Given the description of an element on the screen output the (x, y) to click on. 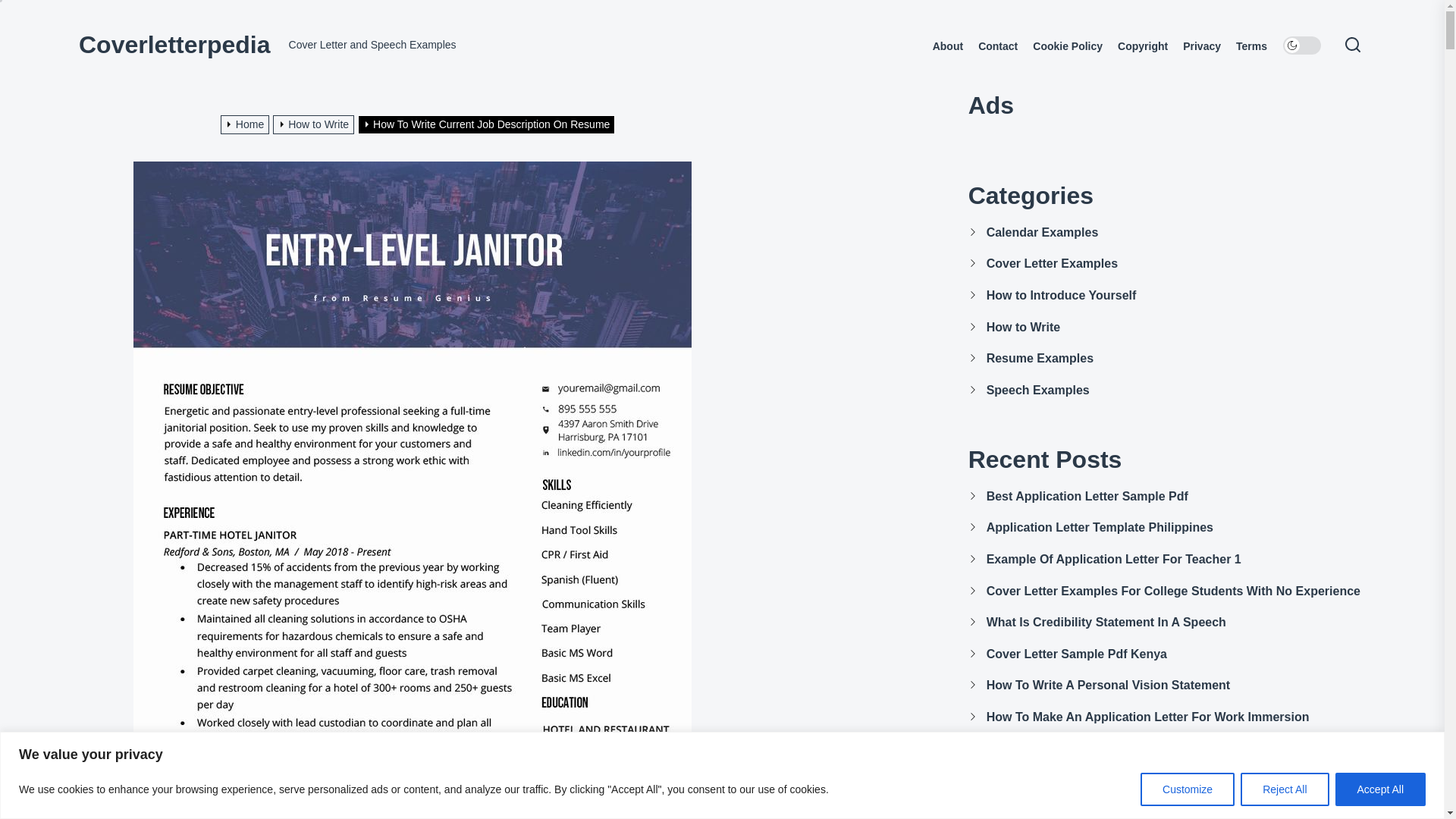
Privacy (1201, 46)
Cookie Policy (1067, 46)
Home (247, 123)
Copyright (1142, 46)
Customize (1187, 788)
How to Write (315, 123)
Terms (1251, 46)
How To Write Current Job Description On Resume (488, 123)
Reject All (1283, 788)
Contact (997, 46)
Coverletterpedia (174, 44)
Accept All (1380, 788)
About (947, 46)
